Given the description of an element on the screen output the (x, y) to click on. 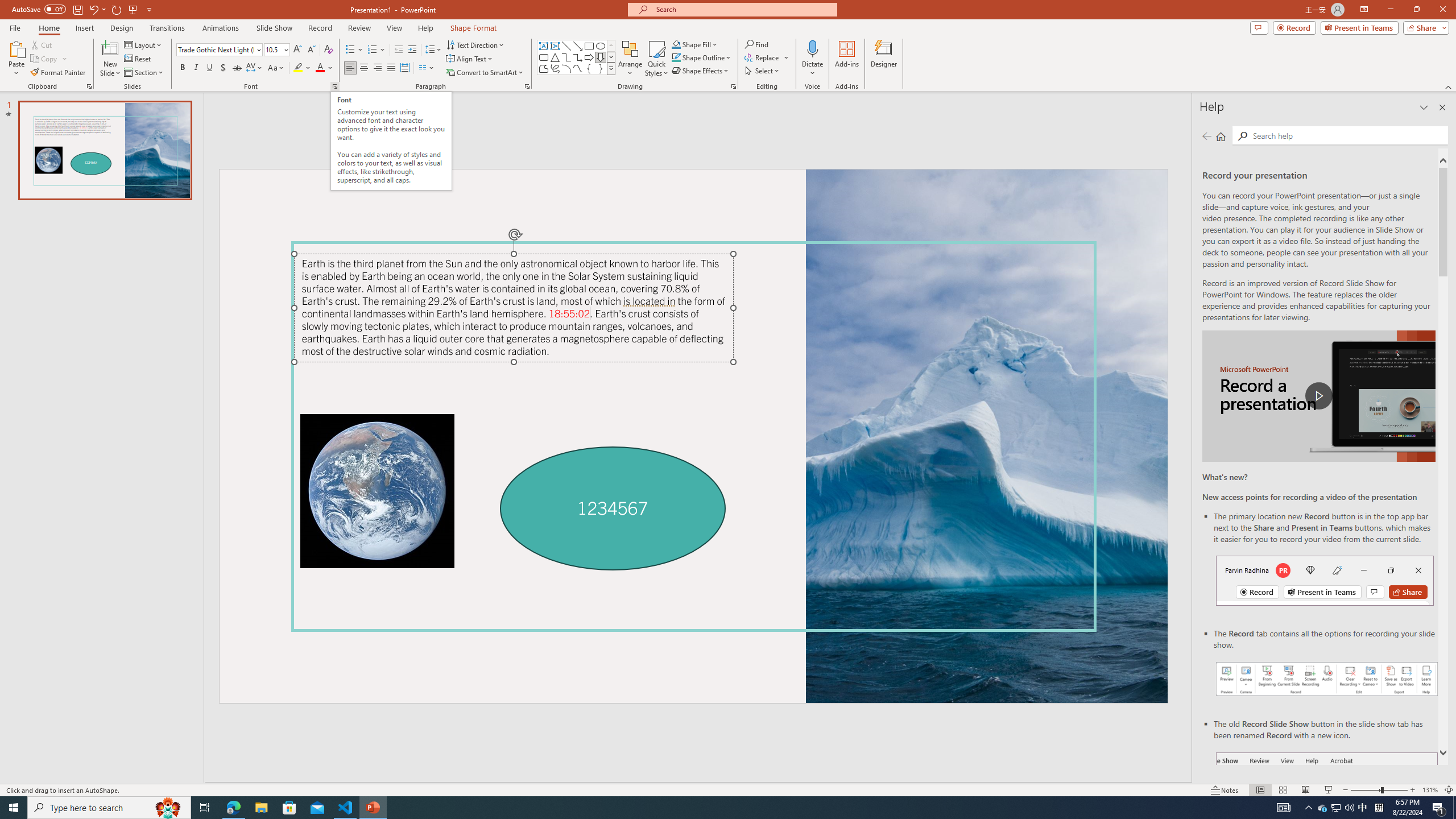
Character Spacing (254, 67)
Designer (883, 58)
Change Case (276, 67)
Line Spacing (433, 49)
Shape Fill Aqua, Accent 2 (675, 44)
Bold (182, 67)
Text Highlight Color Yellow (297, 67)
